Given the description of an element on the screen output the (x, y) to click on. 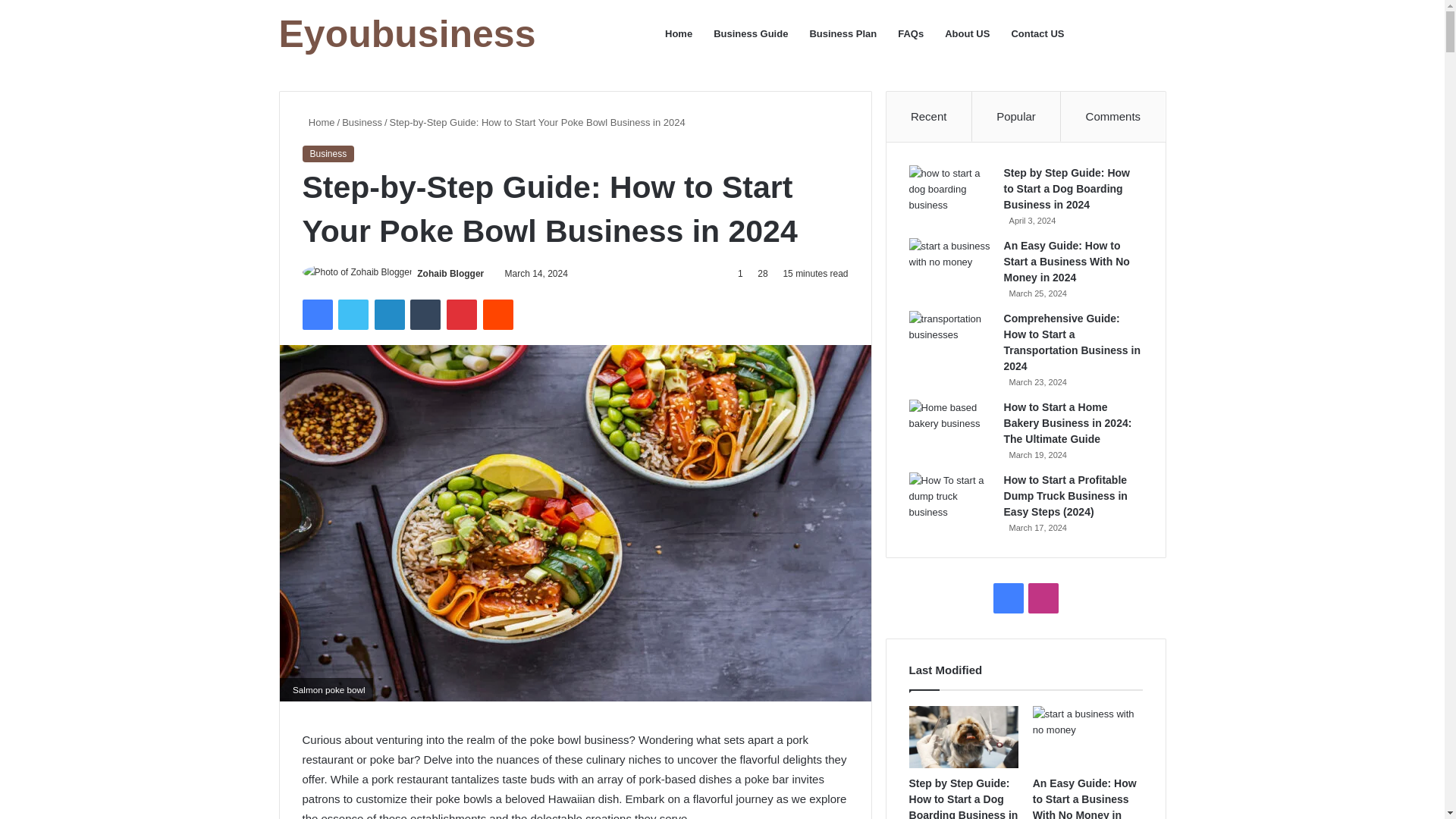
Eyoubusiness (407, 34)
Tumblr (425, 314)
Facebook (316, 314)
Pinterest (461, 314)
Pinterest (461, 314)
LinkedIn (389, 314)
Twitter (352, 314)
Business (361, 122)
Reddit (498, 314)
Zohaib Blogger (449, 273)
Contact US (1037, 33)
Zohaib Blogger (449, 273)
Reddit (498, 314)
Business Plan (841, 33)
Business Guide (750, 33)
